Given the description of an element on the screen output the (x, y) to click on. 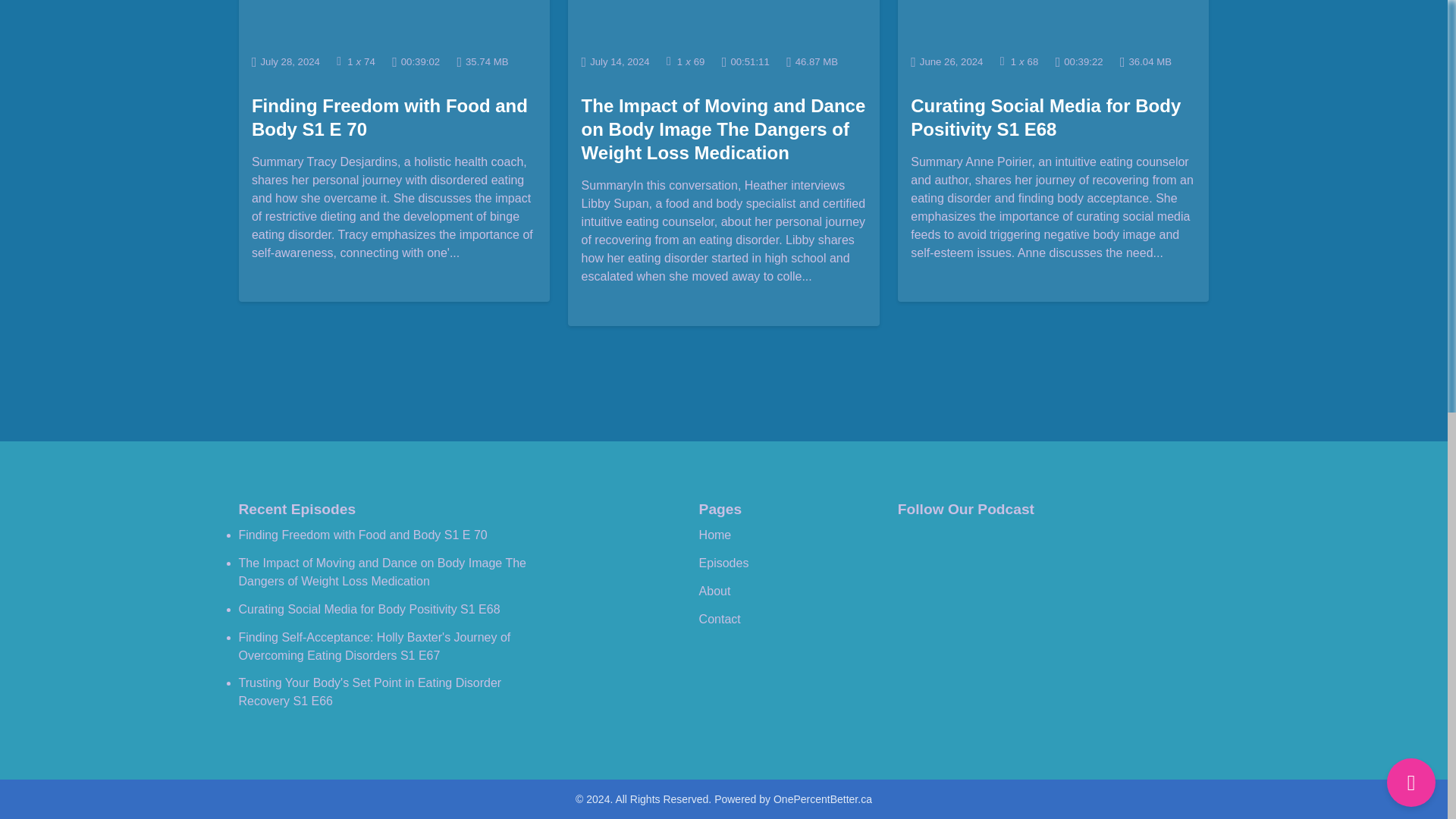
Curating Social Media for Body Positivity S1 E68 (1045, 117)
Finding Freedom with Food and Body S1 E 70 (362, 534)
Episode Duration (415, 61)
Date (285, 61)
Finding Freedom with Food and Body S1 E 70 (389, 117)
Finding Freedom with Food and Body S1 E 70 (394, 21)
